Given the description of an element on the screen output the (x, y) to click on. 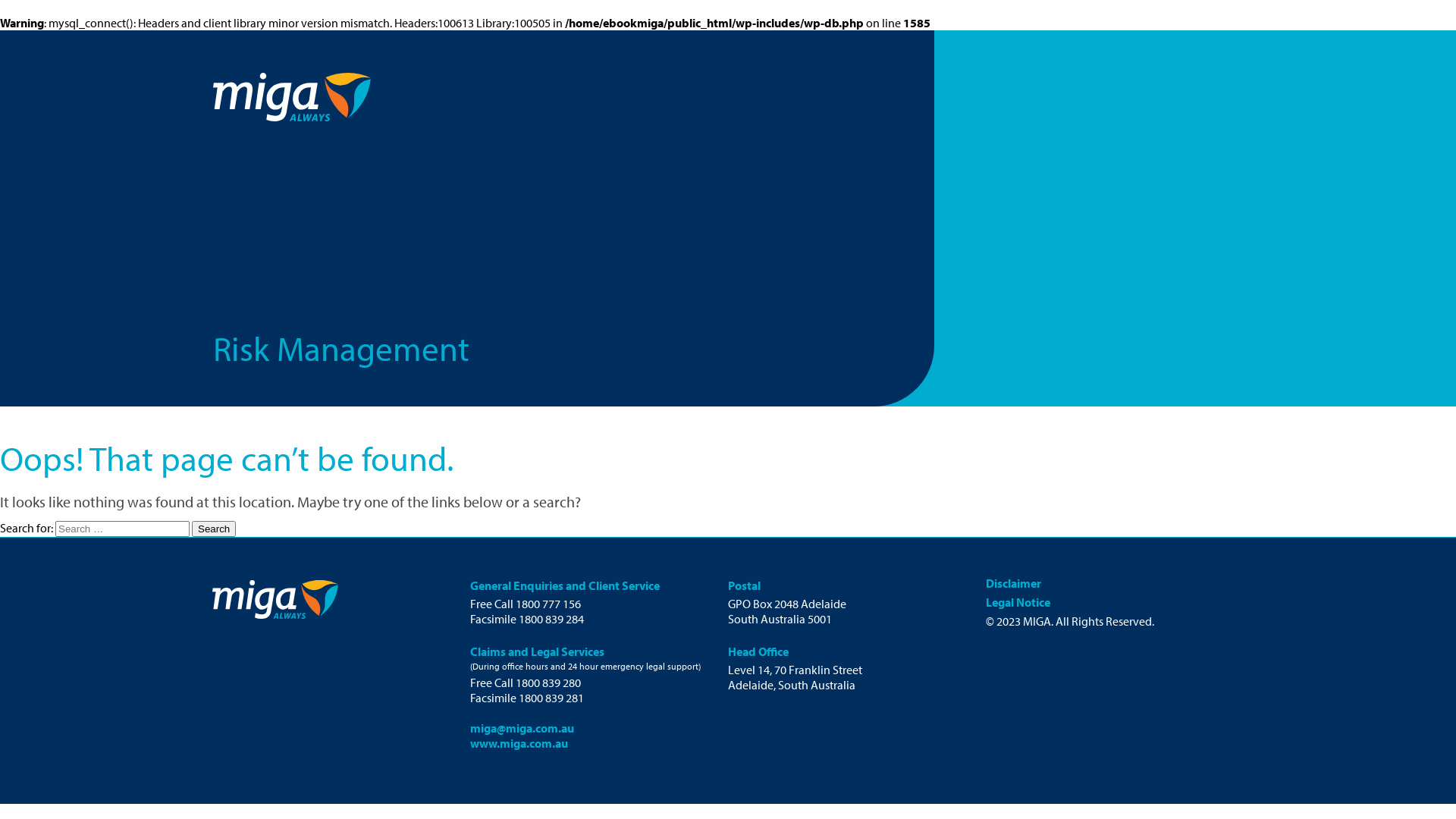
1800 777 156 Element type: text (547, 603)
Disclaimer Element type: text (1013, 582)
Search Element type: text (213, 528)
Legal Notice Element type: text (1017, 601)
1800 839 280 Element type: text (547, 682)
www.miga.com.au Element type: text (518, 742)
miga@miga.com.au Element type: text (522, 727)
